Given the description of an element on the screen output the (x, y) to click on. 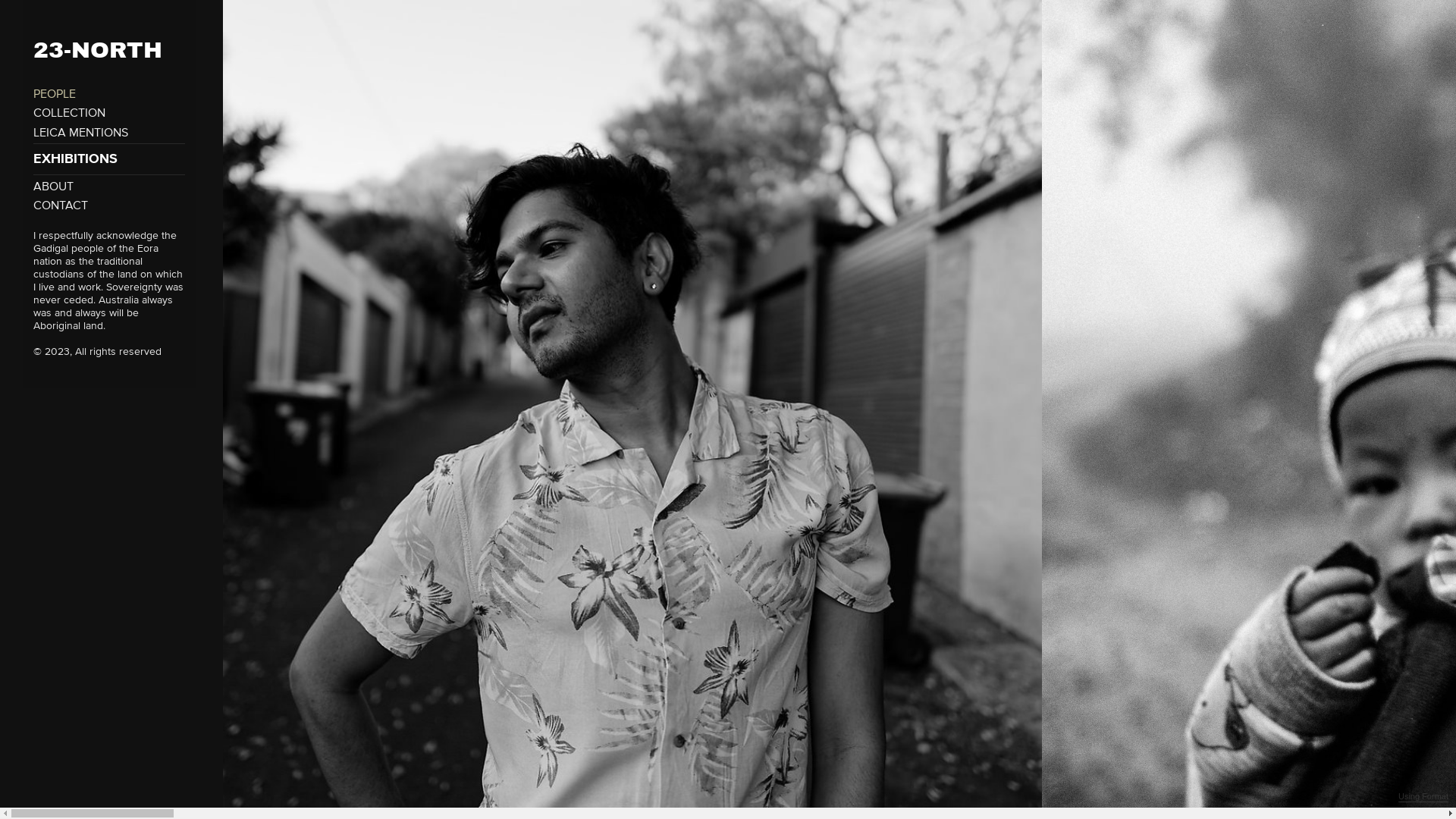
CONTACT Element type: text (60, 205)
Using Format Element type: text (1423, 796)
LEICA MENTIONS Element type: text (80, 132)
COLLECTION Element type: text (69, 112)
ABOUT Element type: text (53, 186)
EXHIBITIONS Element type: text (109, 159)
PEOPLE Element type: text (54, 93)
23-NORTH Element type: text (101, 38)
